Given the description of an element on the screen output the (x, y) to click on. 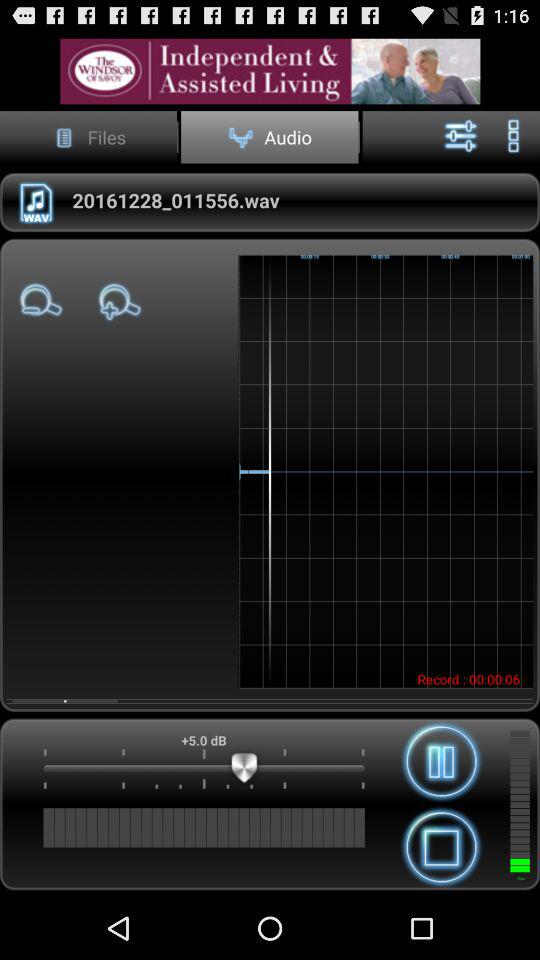
access advertisement (270, 70)
